Given the description of an element on the screen output the (x, y) to click on. 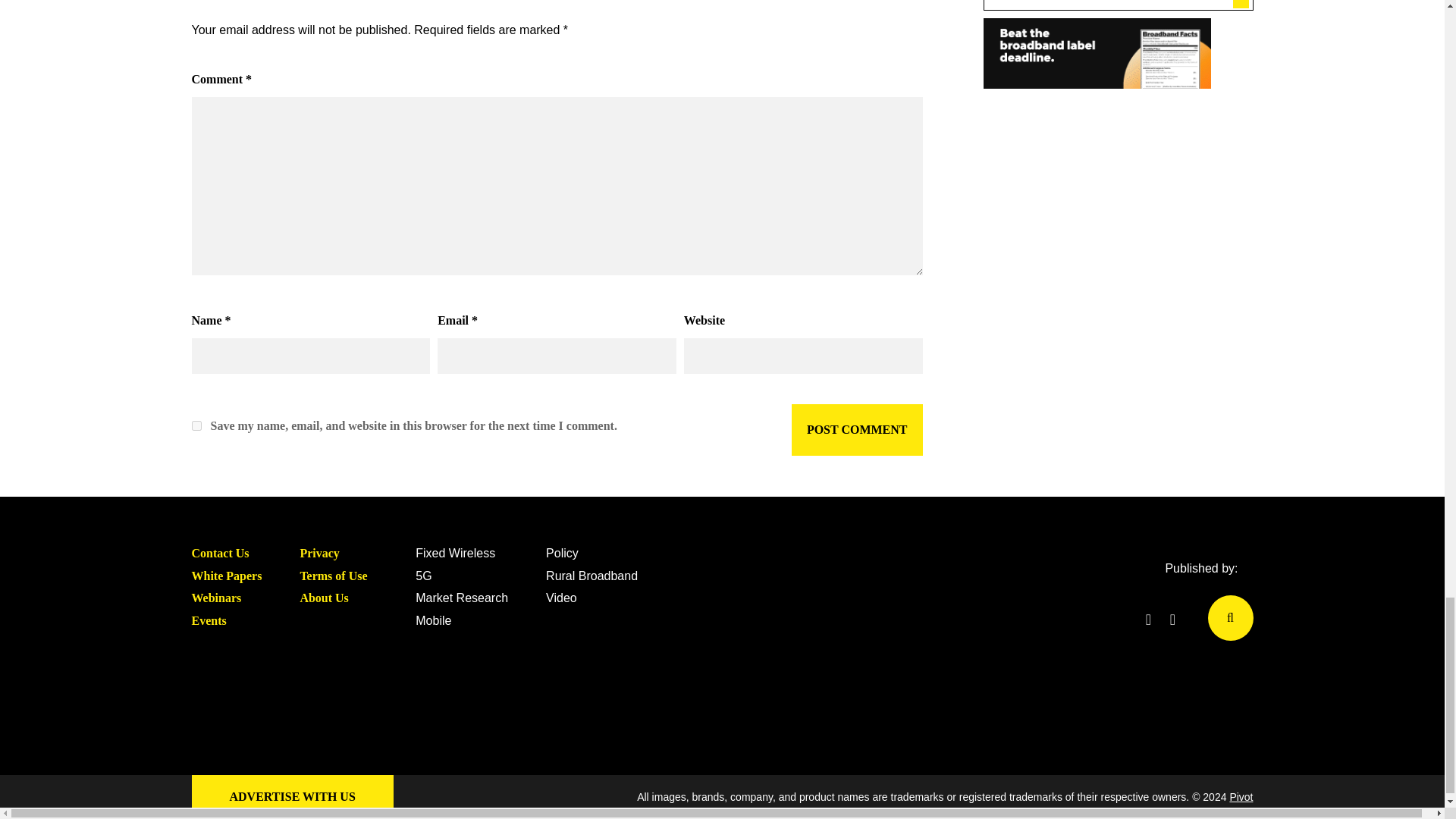
yes (195, 425)
Post Comment (857, 429)
